Given the description of an element on the screen output the (x, y) to click on. 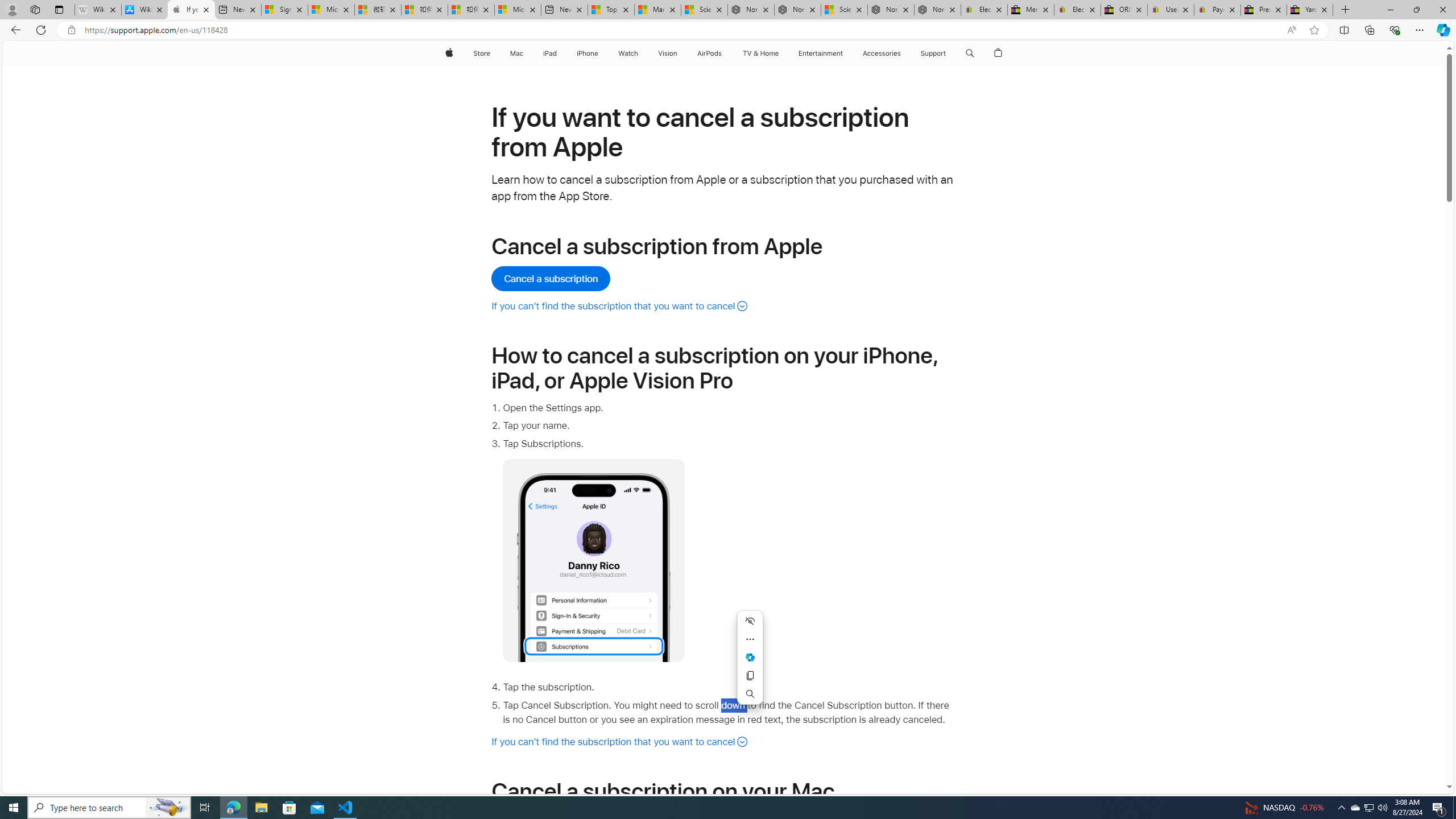
View site information (70, 29)
Marine life - MSN (656, 9)
Restore (1416, 9)
Refresh (40, 29)
Yard, Garden & Outdoor Living (1309, 9)
Payments Terms of Use | eBay.com (1216, 9)
iPad (550, 53)
Workspaces (34, 9)
Copilot (Ctrl+Shift+.) (1442, 29)
iPhone (587, 53)
Browser essentials (1394, 29)
Press Room - eBay Inc. (1263, 9)
Open the Settings app. (729, 407)
